Given the description of an element on the screen output the (x, y) to click on. 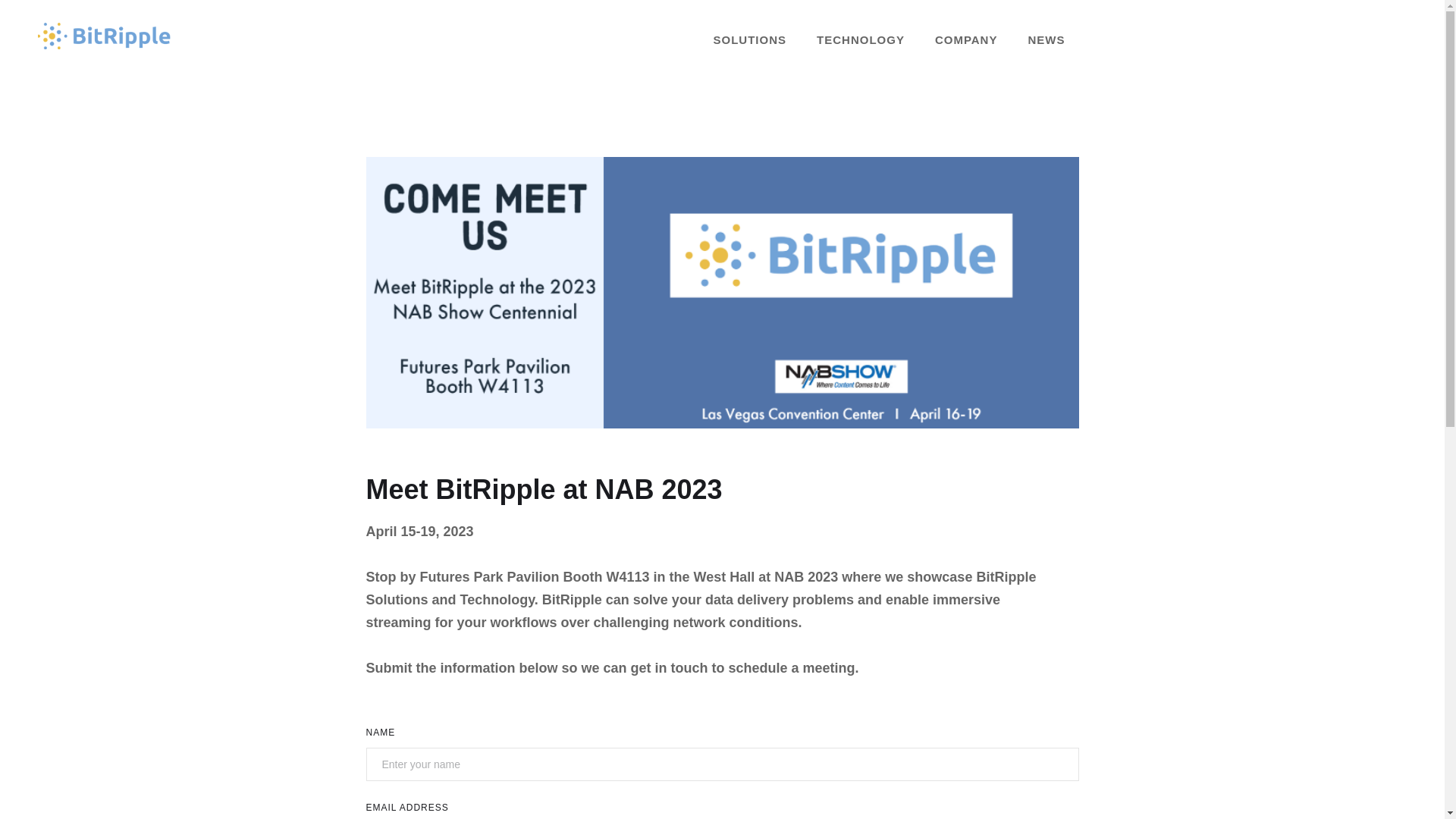
TECHNOLOGY (861, 35)
SOLUTIONS (750, 35)
NEWS (1045, 35)
